Given the description of an element on the screen output the (x, y) to click on. 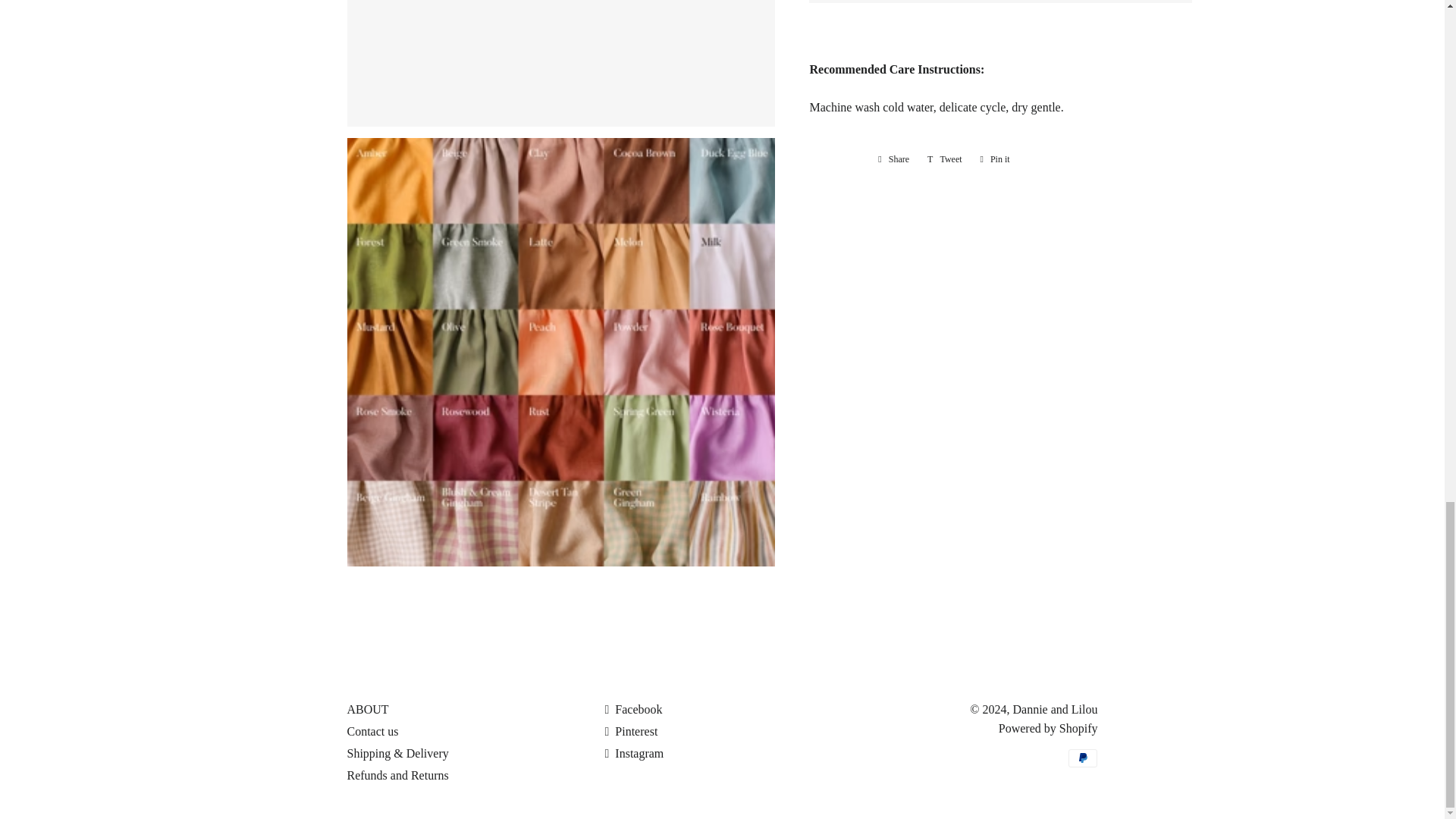
Tweet on Twitter (944, 158)
Pin on Pinterest (994, 158)
Share on Facebook (893, 158)
Dannie and Lilou on Instagram (633, 753)
Dannie and Lilou on Facebook (633, 708)
PayPal (1082, 758)
Dannie and Lilou on Pinterest (631, 730)
